Given the description of an element on the screen output the (x, y) to click on. 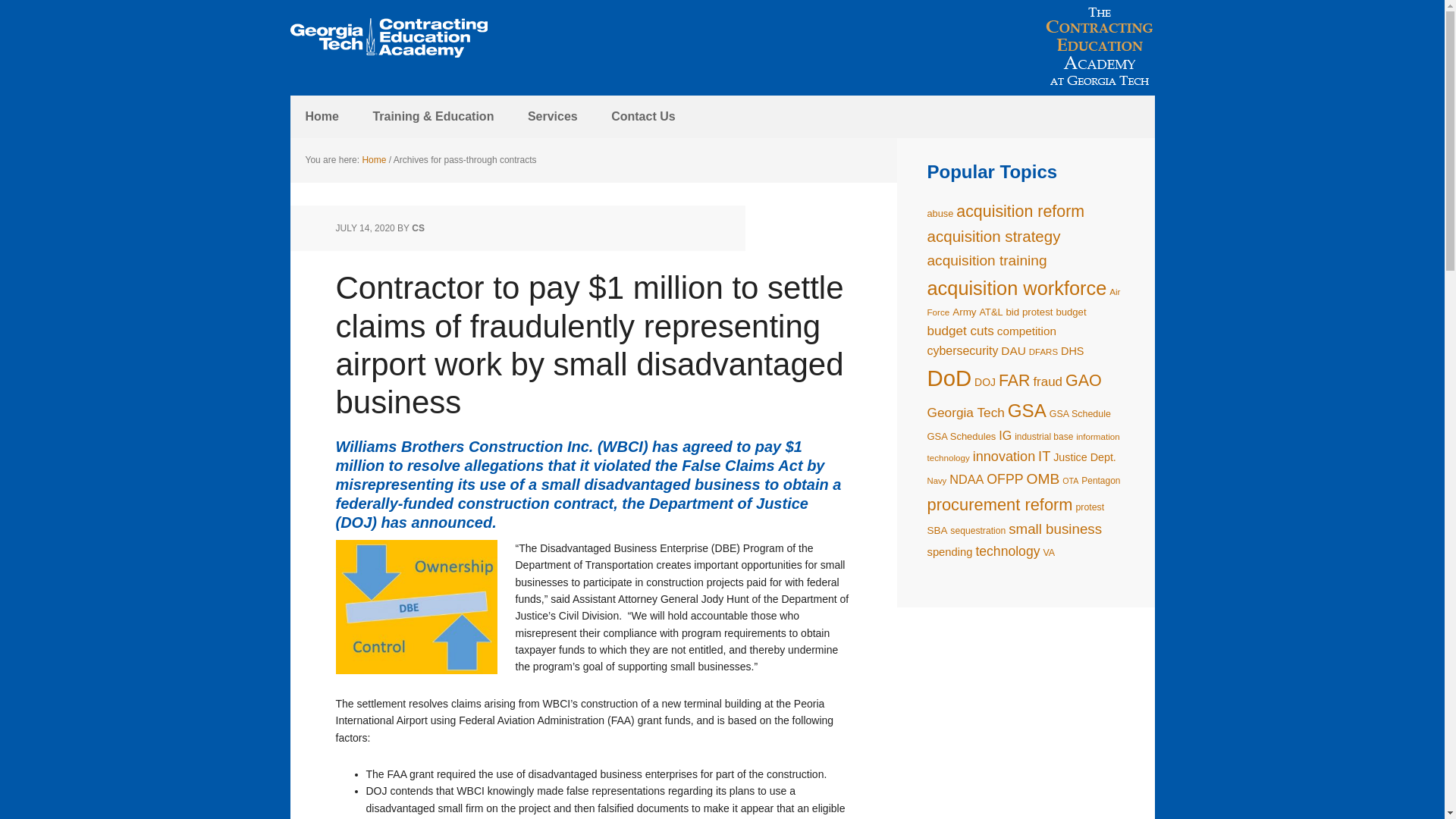
The Contracting Education Academy (387, 38)
Services (552, 116)
CS (418, 227)
Home (321, 116)
Home (373, 159)
Contact Us (642, 116)
